Given the description of an element on the screen output the (x, y) to click on. 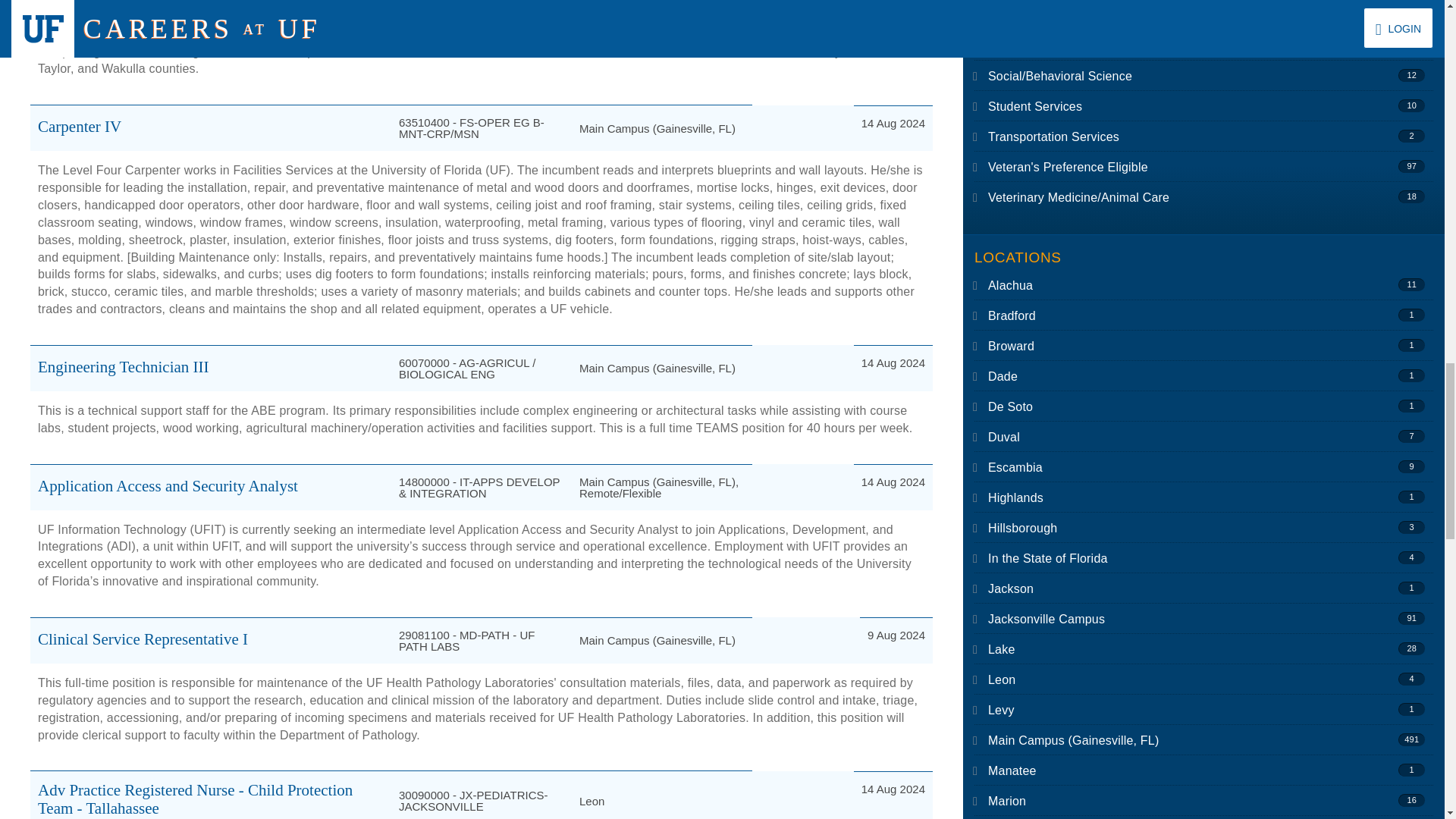
Clinical Service Representative I (142, 638)
Carpenter IV (78, 126)
Application Access and Security Analyst (167, 485)
Engineering Technician III (123, 366)
